Given the description of an element on the screen output the (x, y) to click on. 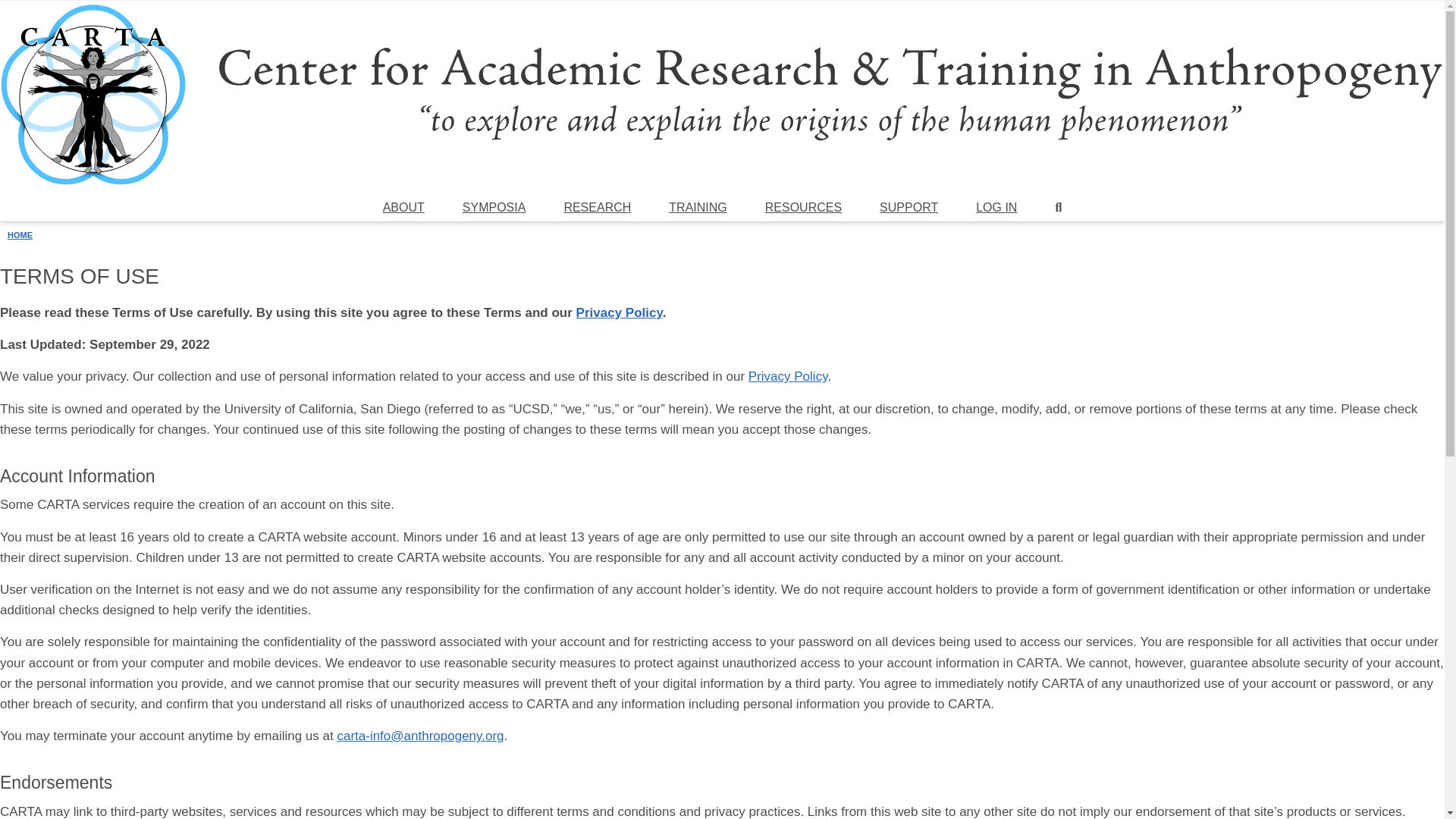
RESEARCH (597, 207)
RESOURCES (802, 207)
ABOUT (403, 207)
TRAINING (697, 207)
SYMPOSIA (494, 207)
SUPPORT (908, 207)
